Given the description of an element on the screen output the (x, y) to click on. 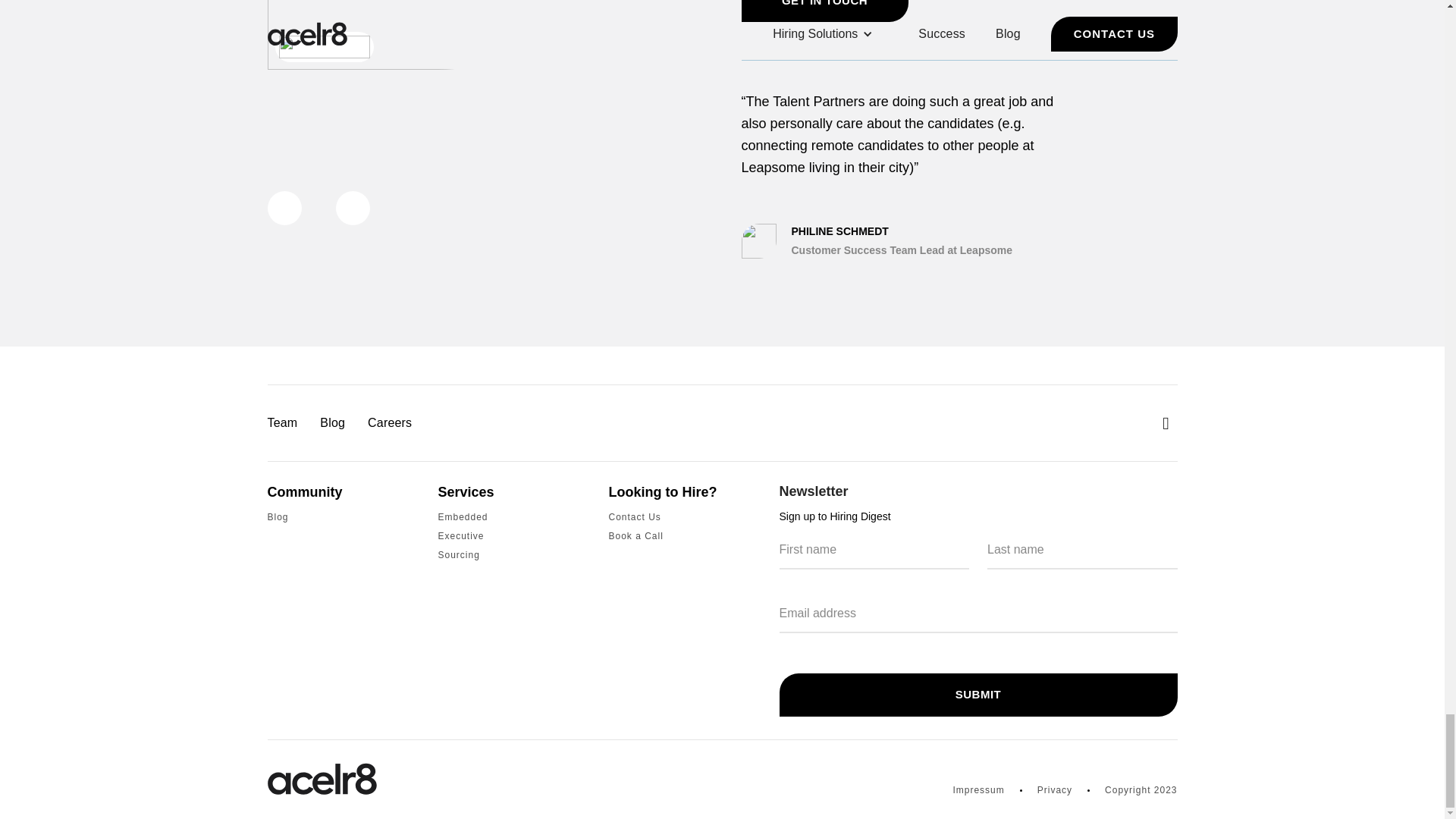
Blog (277, 517)
Contact Us (634, 517)
SUBMIT (977, 694)
Team (281, 422)
GET IN TOUCH (824, 11)
Impressum (978, 790)
Embedded (462, 517)
Blog (332, 422)
Executive (461, 536)
Sourcing (459, 555)
